Given the description of an element on the screen output the (x, y) to click on. 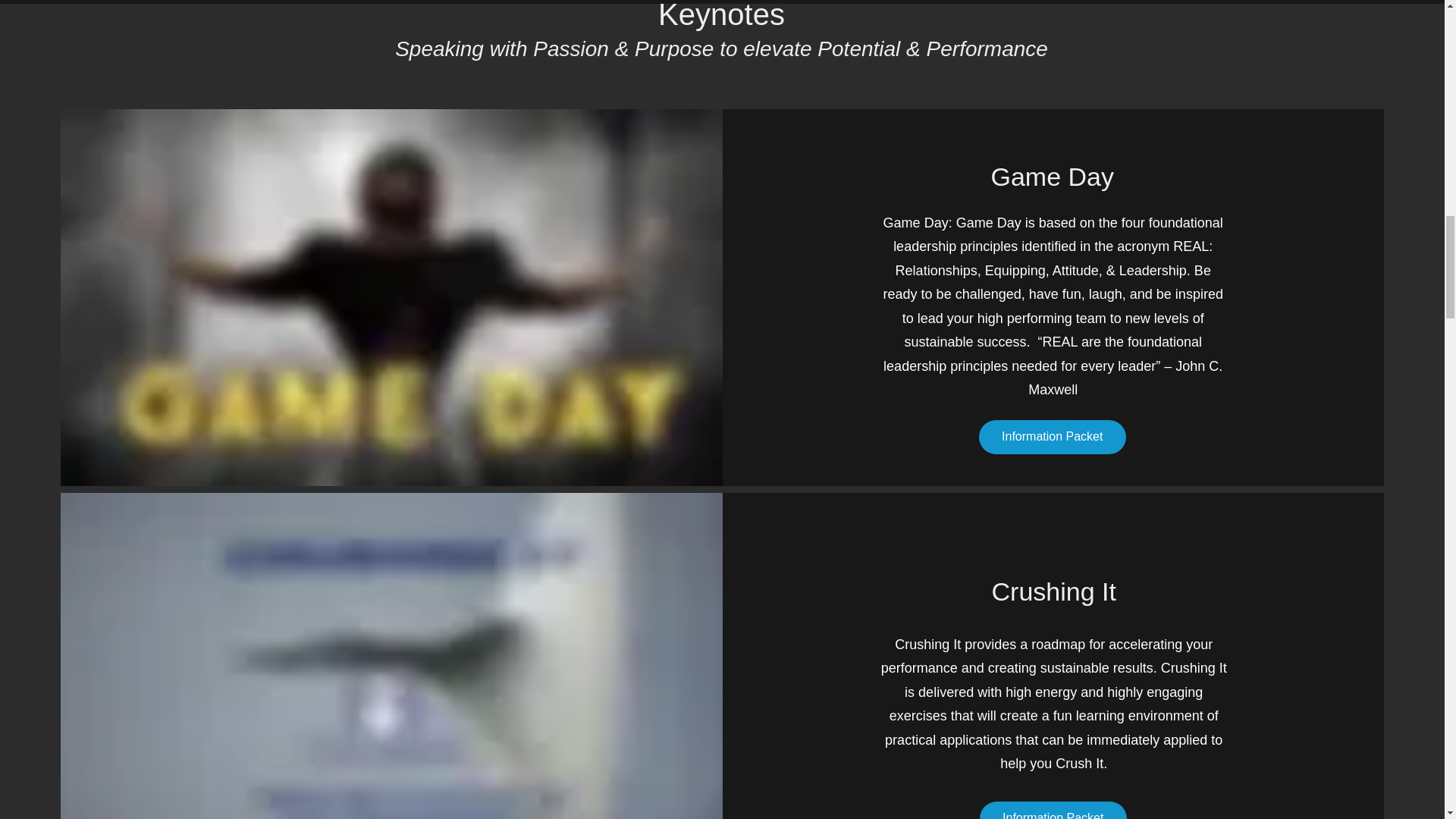
Information Packet (1051, 437)
Information Packet (1052, 810)
